Given the description of an element on the screen output the (x, y) to click on. 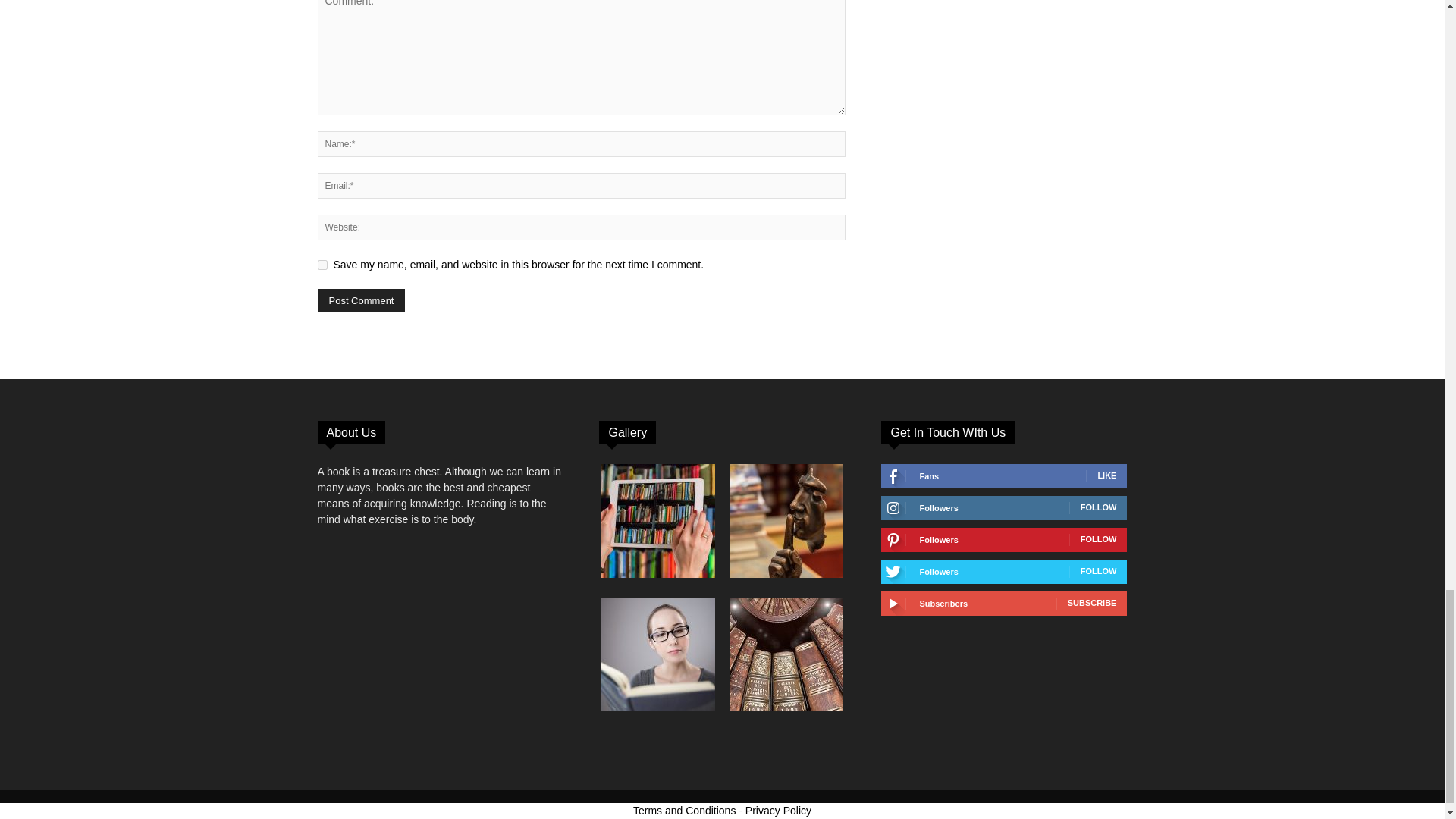
yes (321, 265)
Post Comment (360, 300)
